Given the description of an element on the screen output the (x, y) to click on. 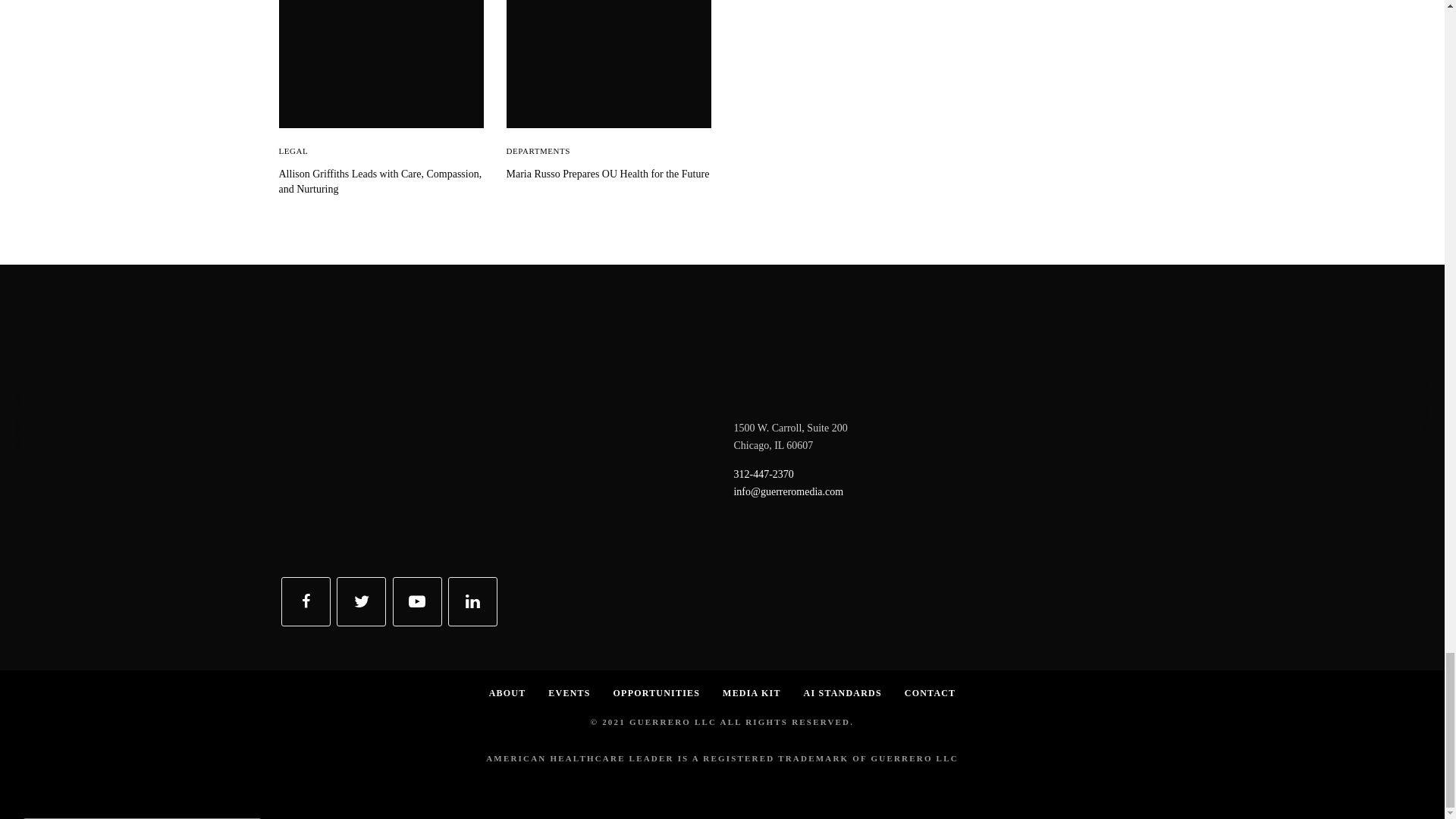
Allison Griffiths Leads with Care, Compassion, and Nurturing (381, 181)
